Given the description of an element on the screen output the (x, y) to click on. 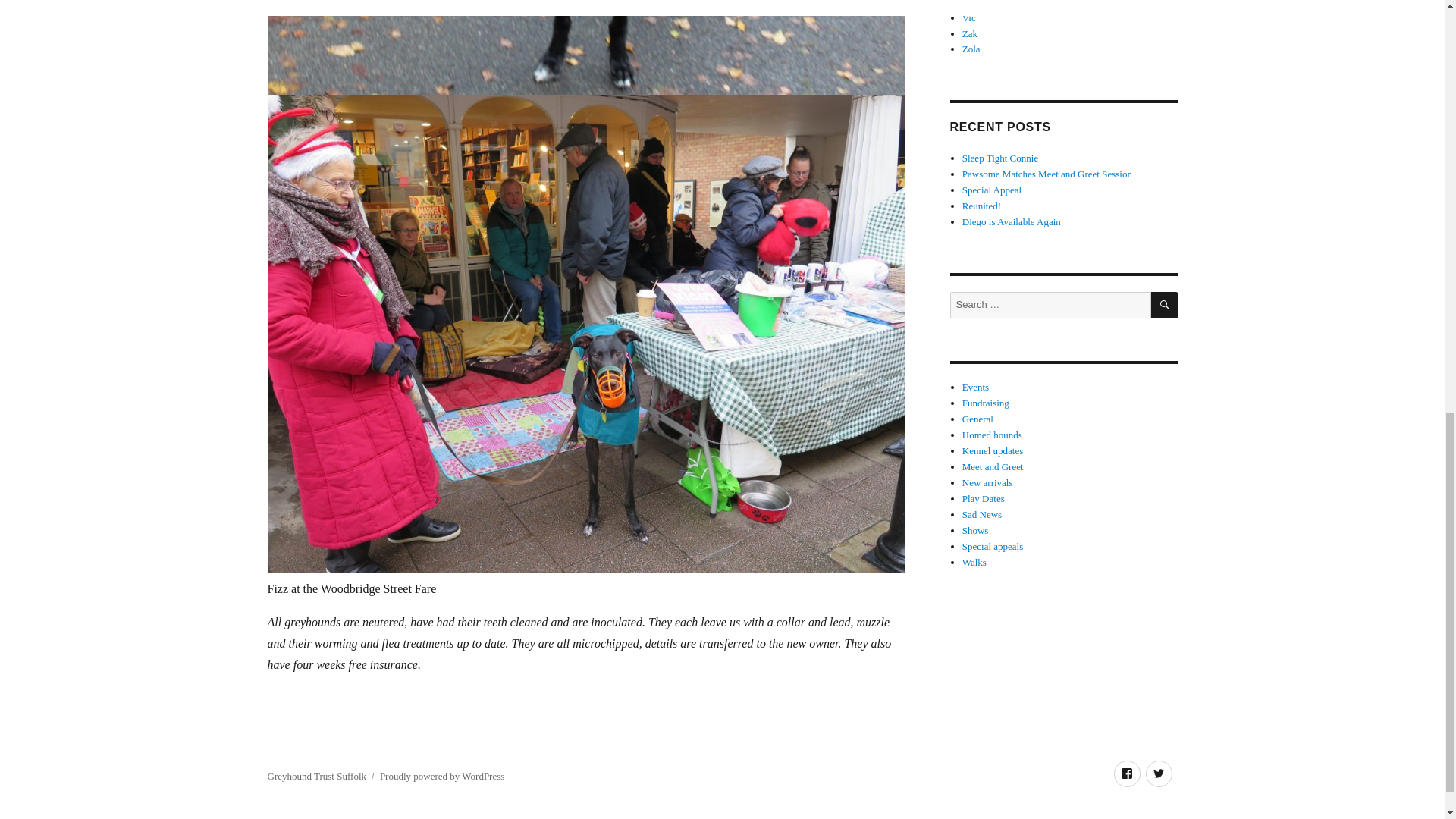
Search for: (1049, 304)
